Given the description of an element on the screen output the (x, y) to click on. 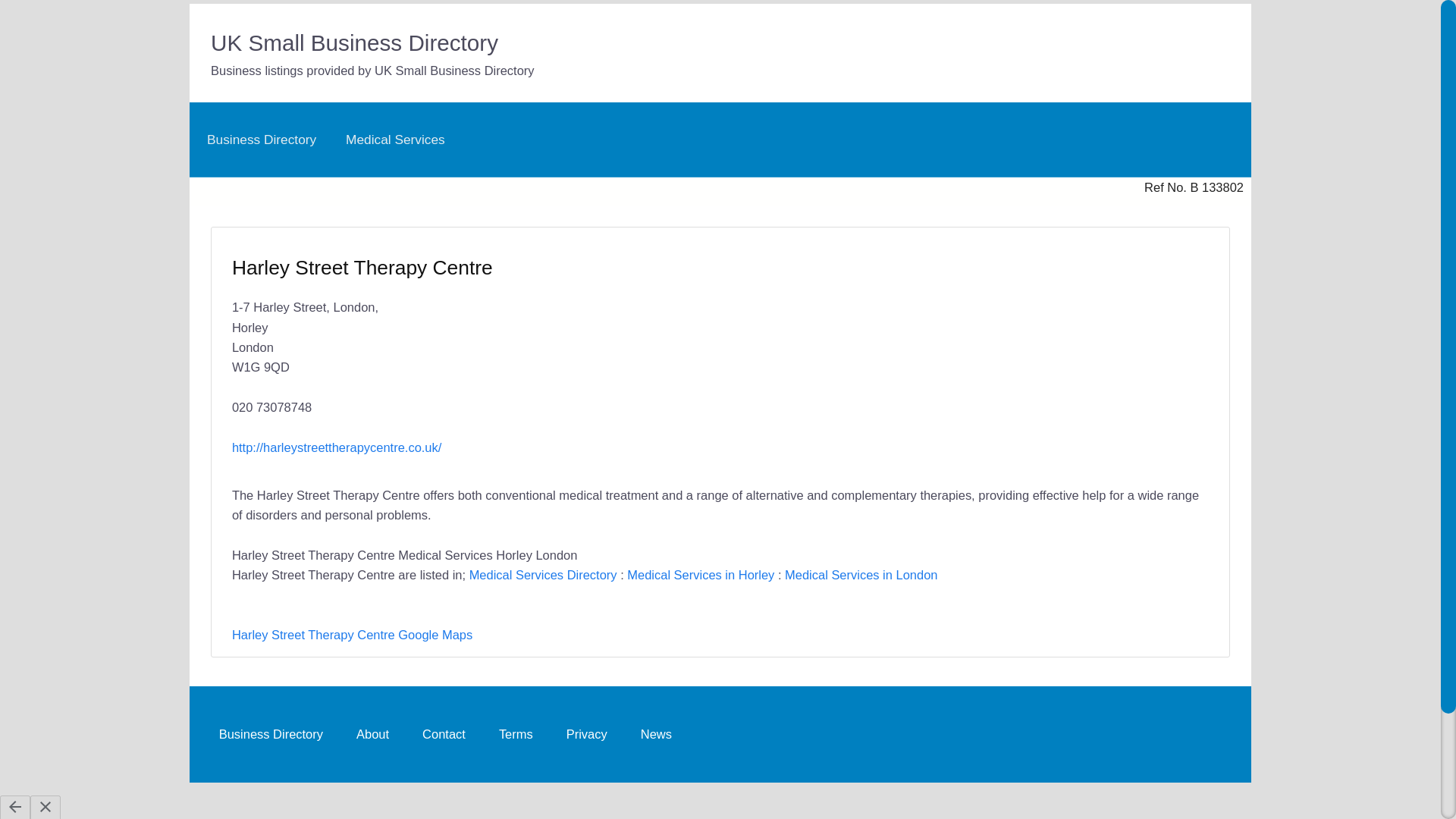
Terms (515, 733)
Medical Services Directory (542, 574)
Advertisement (956, 345)
Medical Services in London (860, 574)
Harley Street Therapy Centre Google Maps (351, 634)
Medical Services (395, 139)
News (656, 733)
Contact (444, 733)
Privacy (586, 733)
About (372, 733)
